Given the description of an element on the screen output the (x, y) to click on. 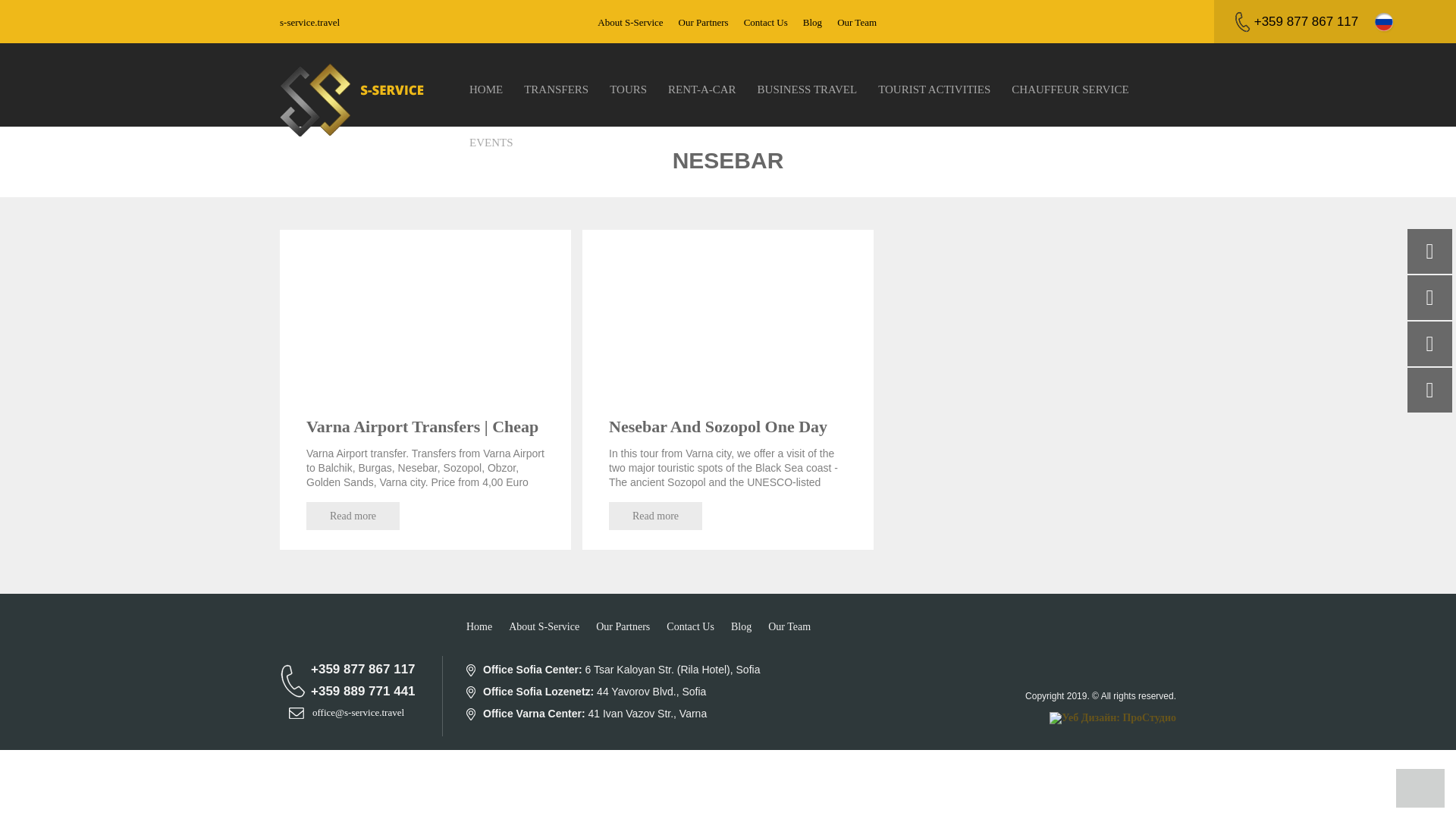
TOURS (628, 89)
Transfers (556, 89)
Our Team (856, 21)
BUSINESS TRAVEL (807, 89)
CHAUFFEUR SERVICE (1069, 89)
About S-Service (629, 21)
Blog (812, 21)
Our Partners (703, 21)
TRANSFERS (556, 89)
Contact Us (765, 21)
